Given the description of an element on the screen output the (x, y) to click on. 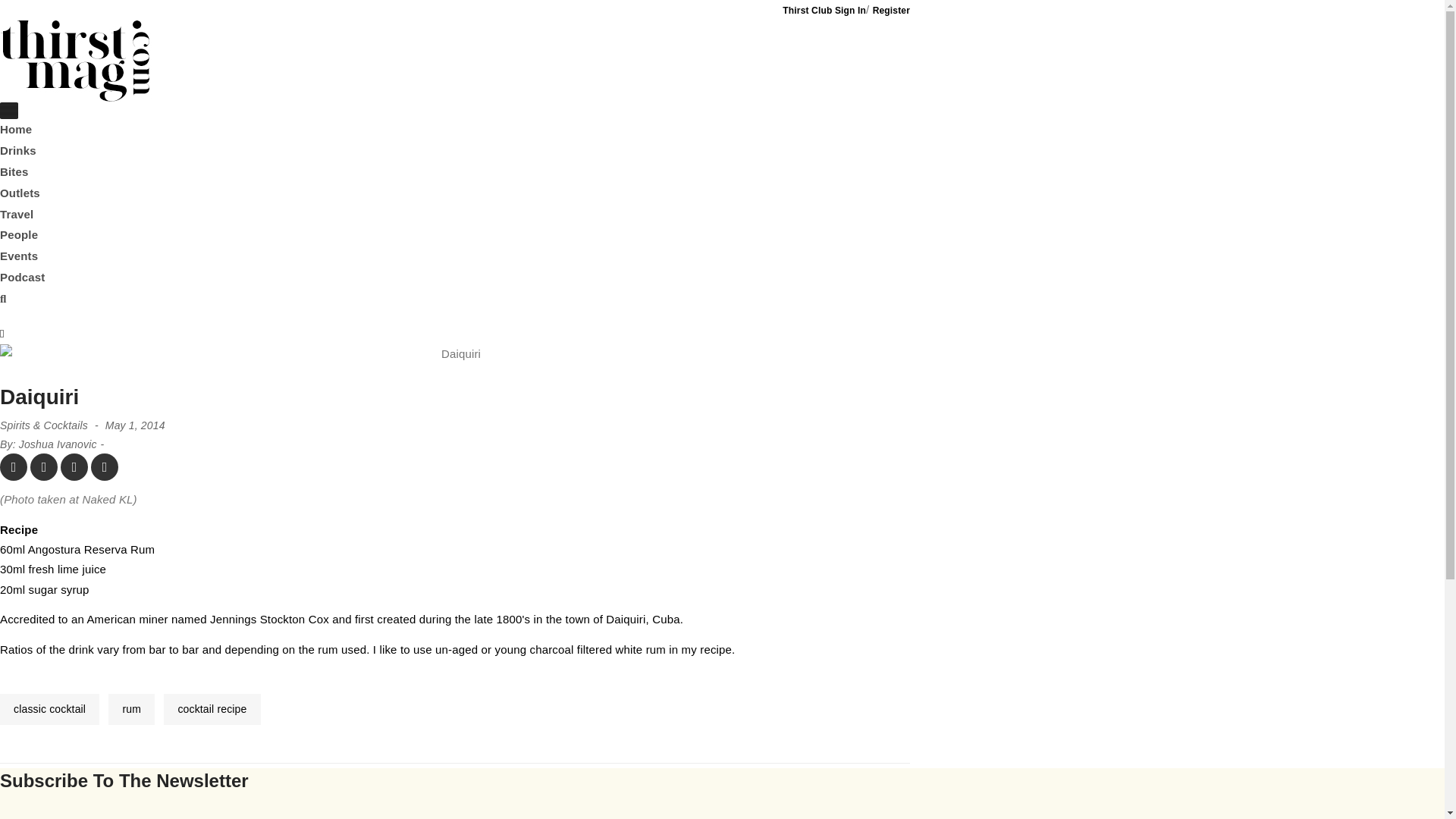
classic cocktail (49, 708)
toggle menu (8, 110)
cocktail recipe (211, 708)
rum (130, 708)
Register (891, 9)
Joshua Ivanovic (57, 444)
Thirst Club Sign In (824, 9)
